Given the description of an element on the screen output the (x, y) to click on. 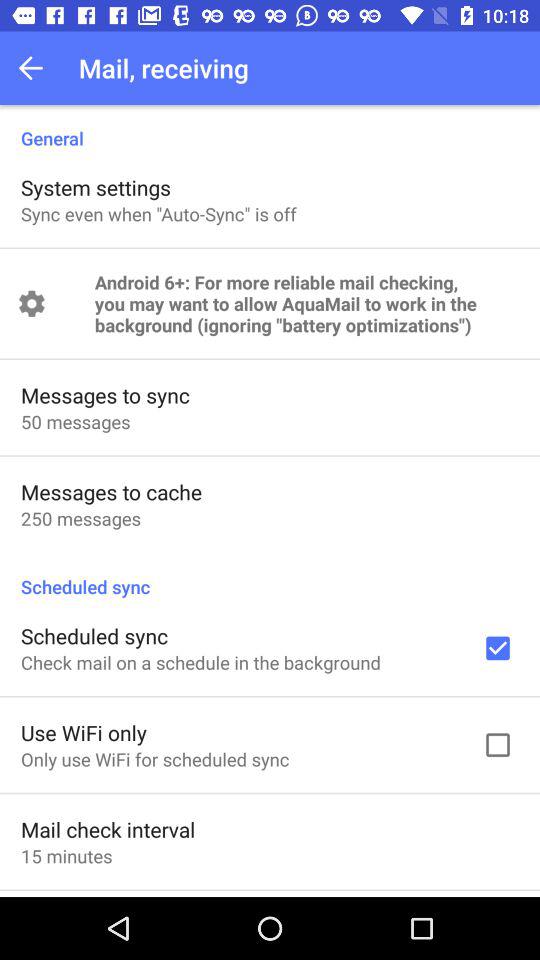
tap the item below the messages to cache item (80, 518)
